Given the description of an element on the screen output the (x, y) to click on. 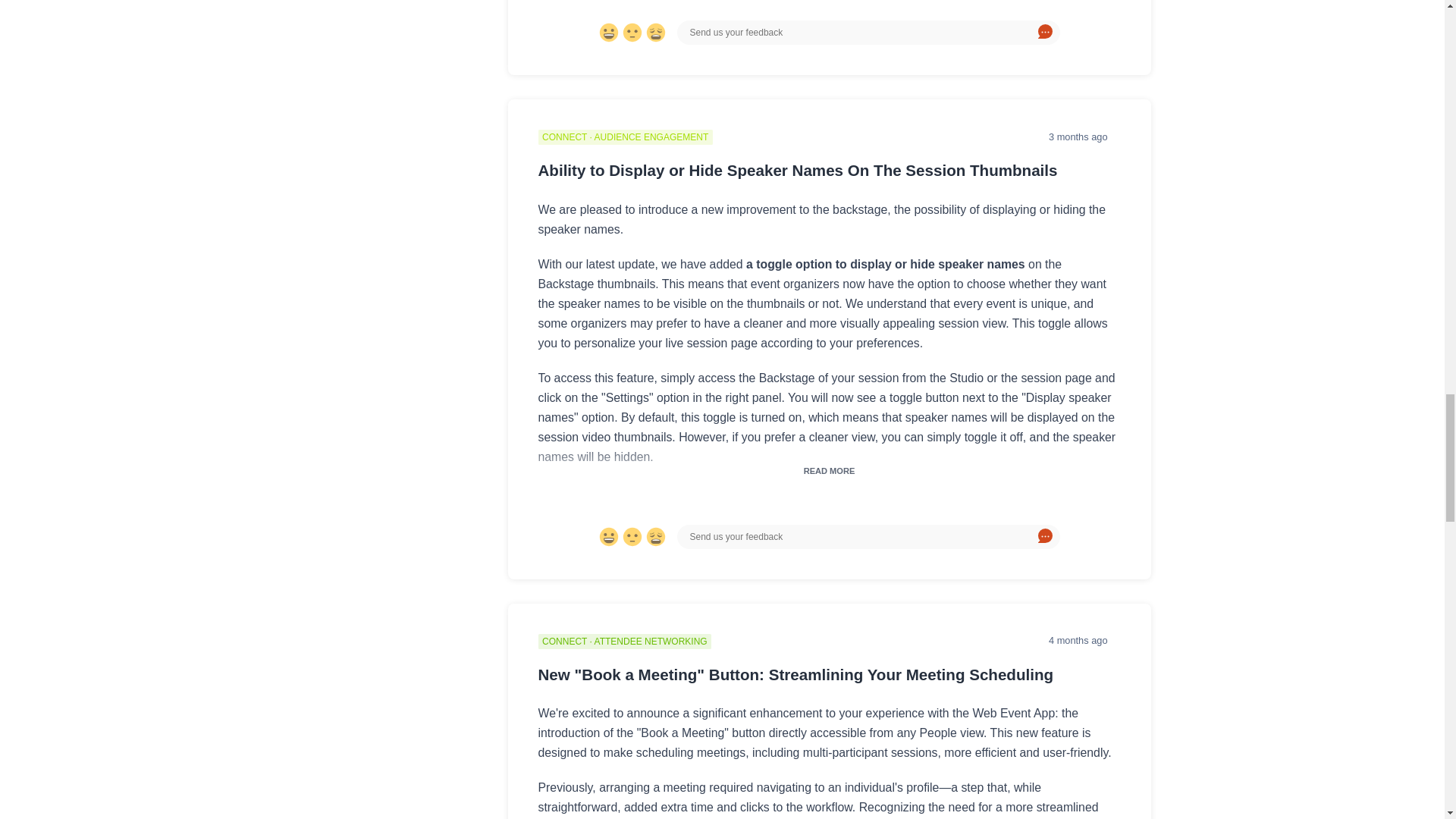
Submit Button (1044, 32)
Submit Button (1044, 536)
